Given the description of an element on the screen output the (x, y) to click on. 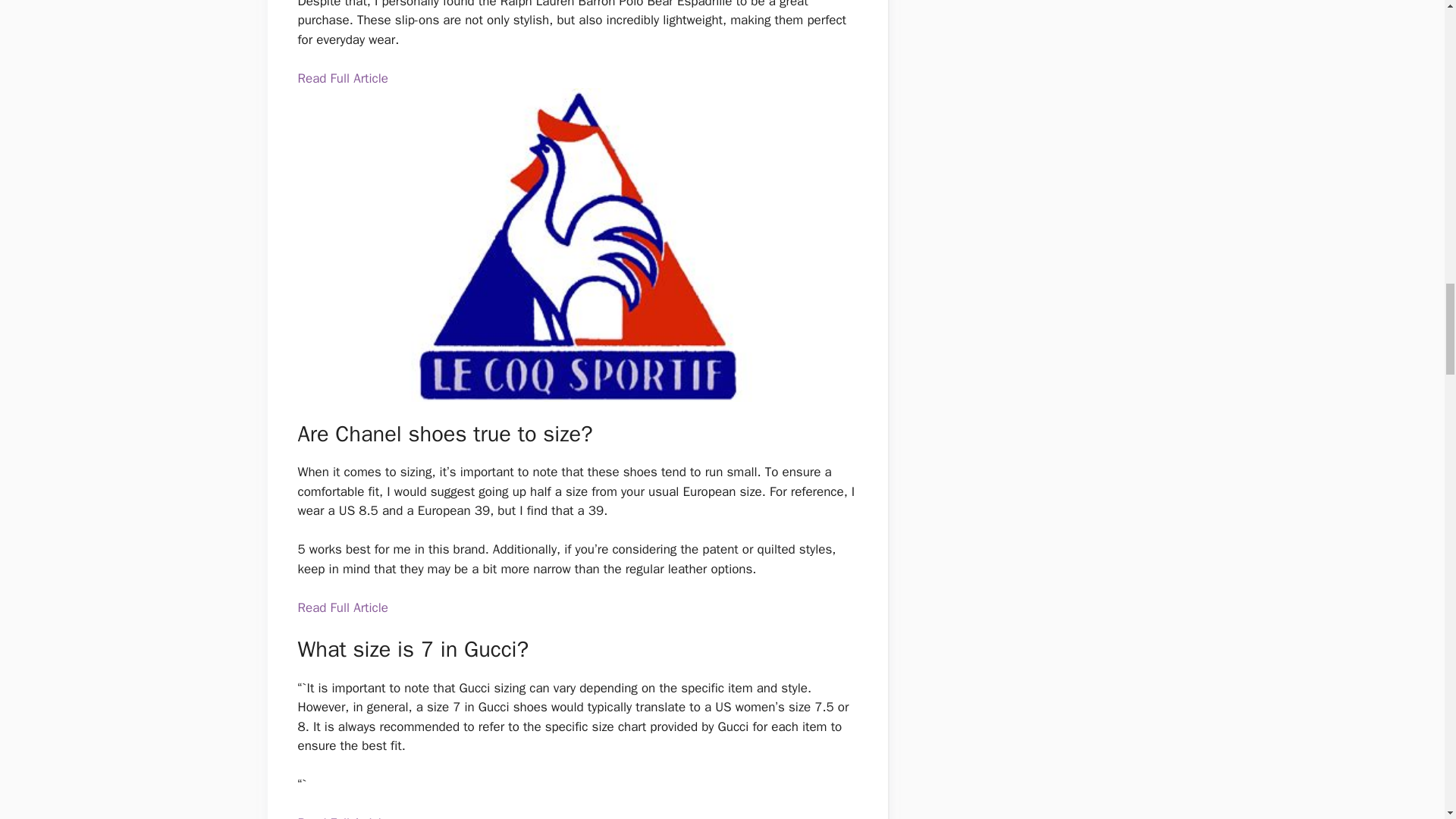
Read Full Article (342, 816)
Read Full Article (342, 607)
Read Full Article (342, 77)
